Given the description of an element on the screen output the (x, y) to click on. 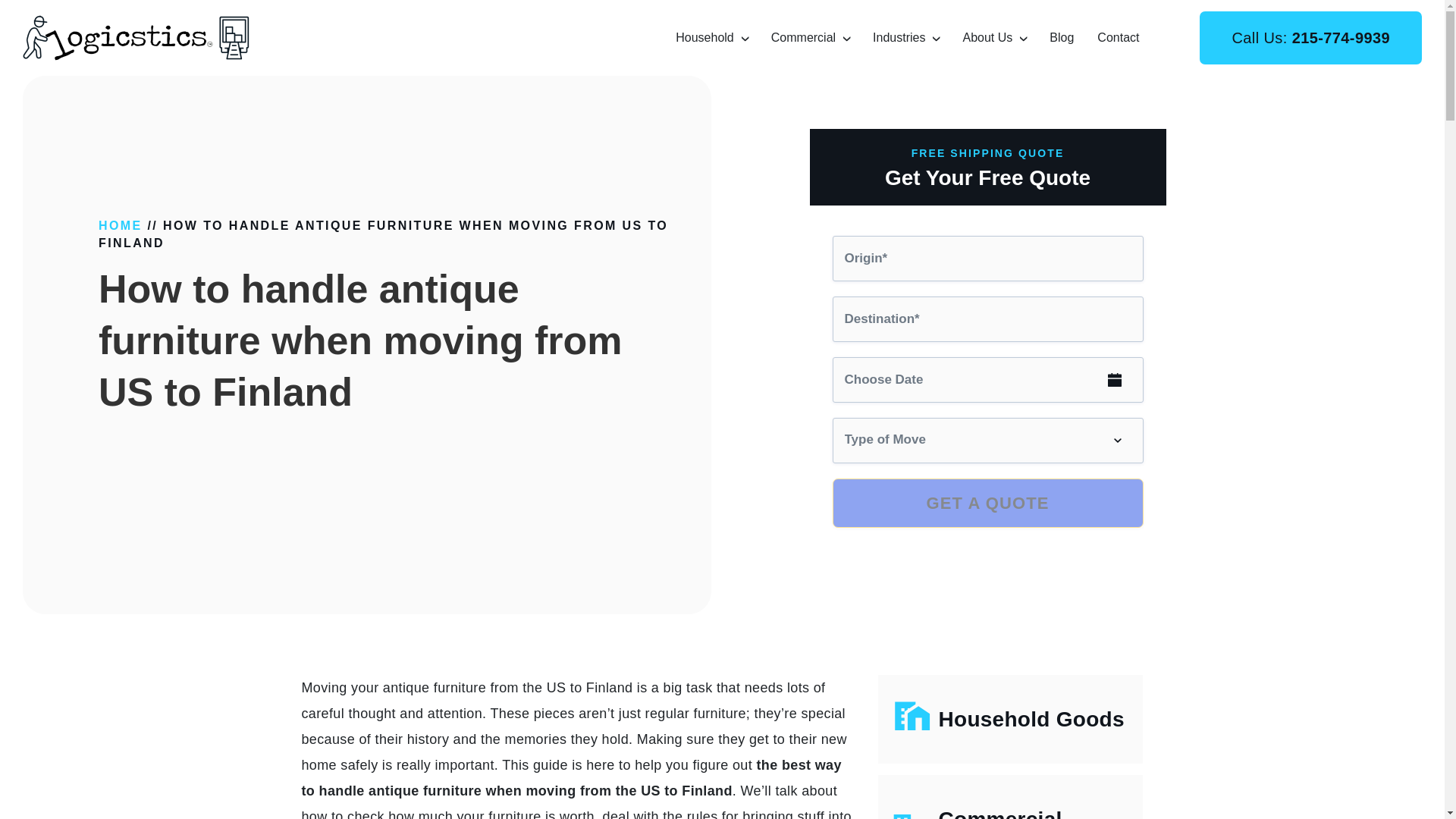
Get A Quote (987, 502)
Household (704, 36)
Commercial (803, 36)
Industries (898, 36)
About Us (986, 36)
